Given the description of an element on the screen output the (x, y) to click on. 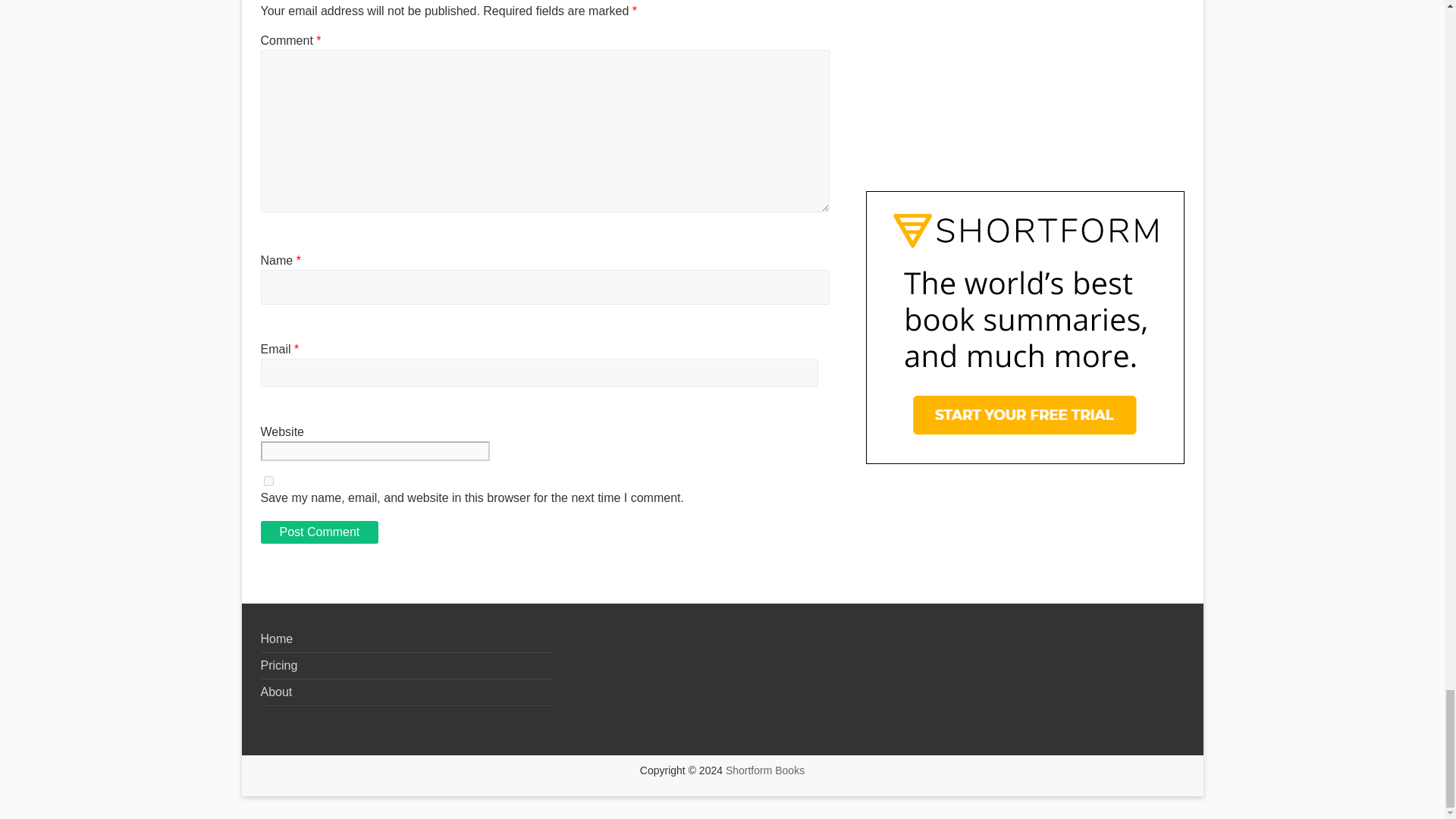
yes (268, 480)
Post Comment (319, 531)
